Given the description of an element on the screen output the (x, y) to click on. 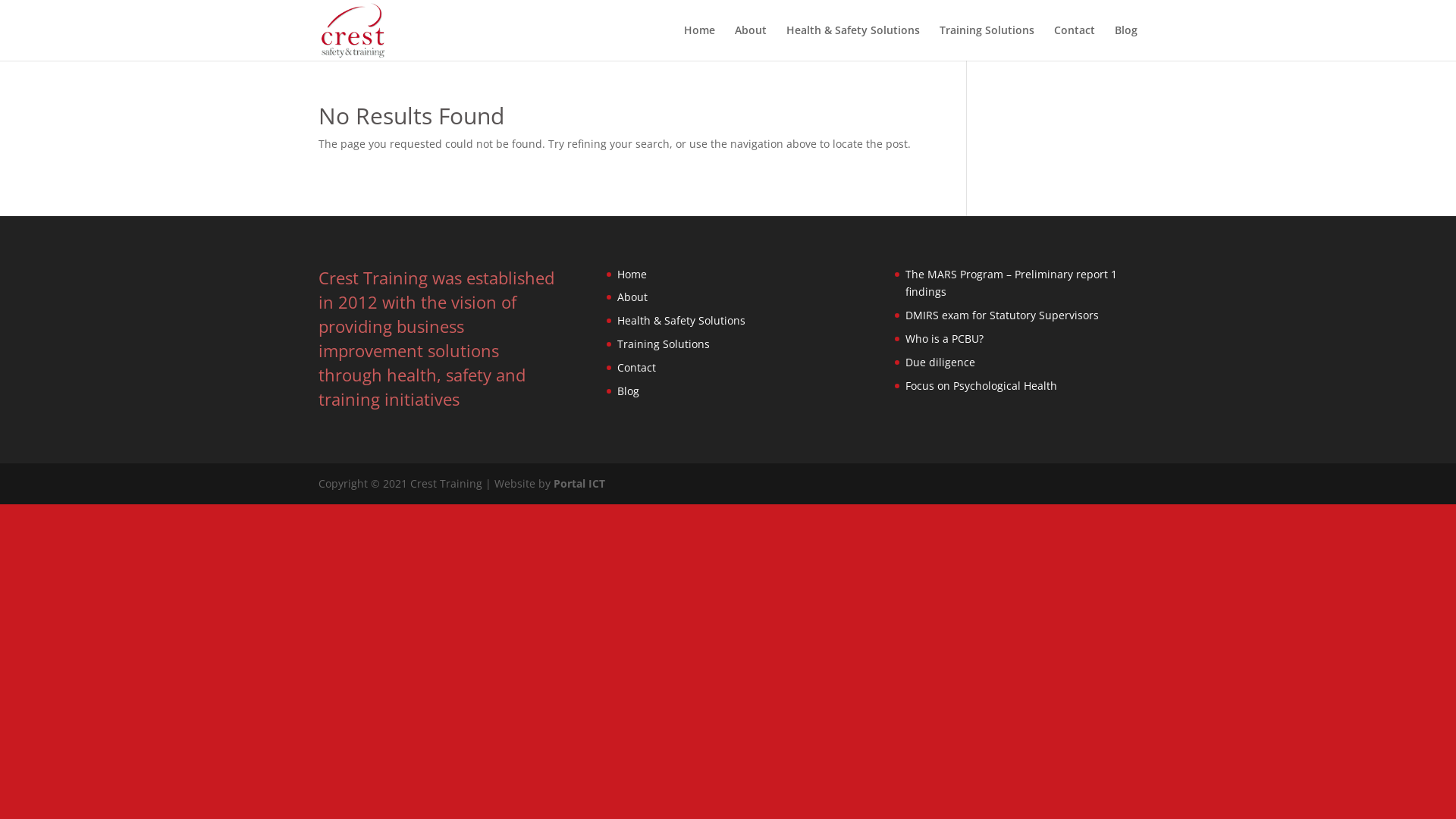
Health & Safety Solutions Element type: text (852, 42)
Contact Element type: text (636, 367)
Focus on Psychological Health Element type: text (981, 385)
About Element type: text (632, 296)
Who is a PCBU? Element type: text (944, 338)
Training Solutions Element type: text (663, 343)
Training Solutions Element type: text (986, 42)
About Element type: text (750, 42)
Blog Element type: text (1125, 42)
Blog Element type: text (628, 390)
DMIRS exam for Statutory Supervisors Element type: text (1001, 314)
Home Element type: text (699, 42)
Contact Element type: text (1074, 42)
Home Element type: text (631, 273)
Portal ICT Element type: text (579, 483)
Due diligence Element type: text (940, 361)
Health & Safety Solutions Element type: text (681, 320)
